Given the description of an element on the screen output the (x, y) to click on. 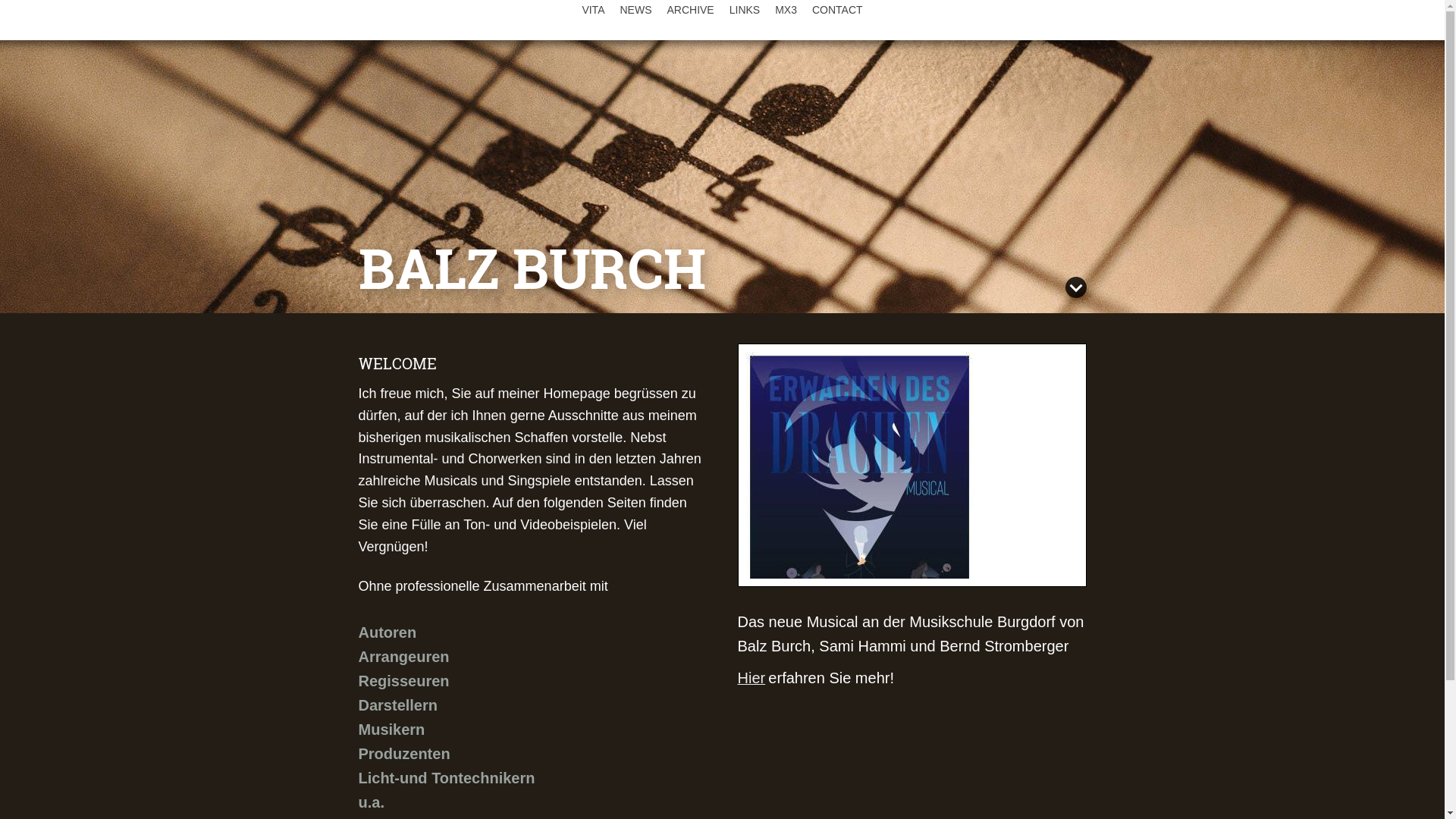
CONTACT Element type: text (837, 9)
Hier Element type: text (751, 678)
NEWS Element type: text (635, 9)
VITA Element type: text (592, 9)
MX3 Element type: text (786, 9)
LINKS Element type: text (744, 9)
ARCHIVE Element type: text (689, 9)
